Given the description of an element on the screen output the (x, y) to click on. 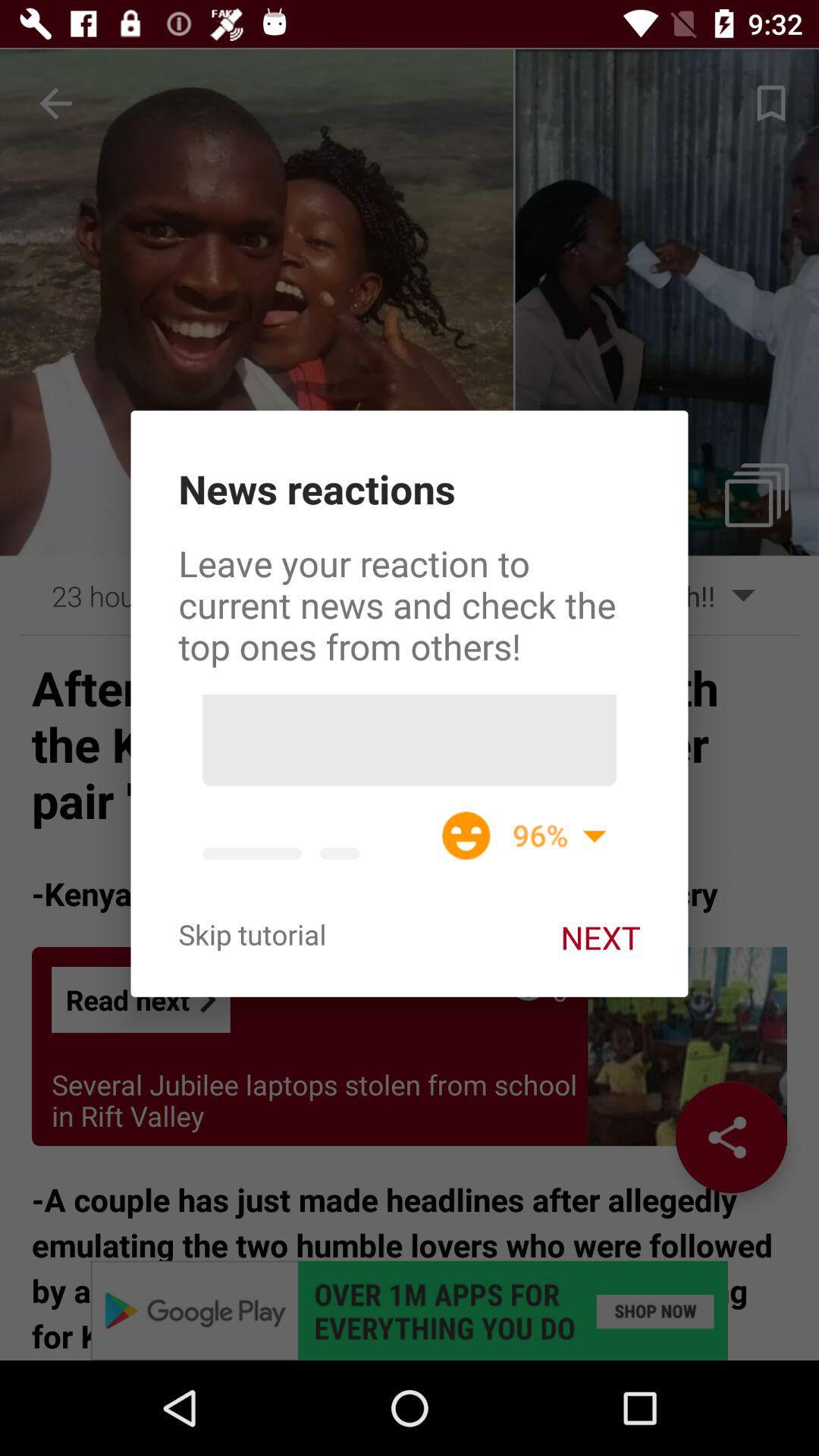
select the item to the left of the next icon (252, 934)
